Given the description of an element on the screen output the (x, y) to click on. 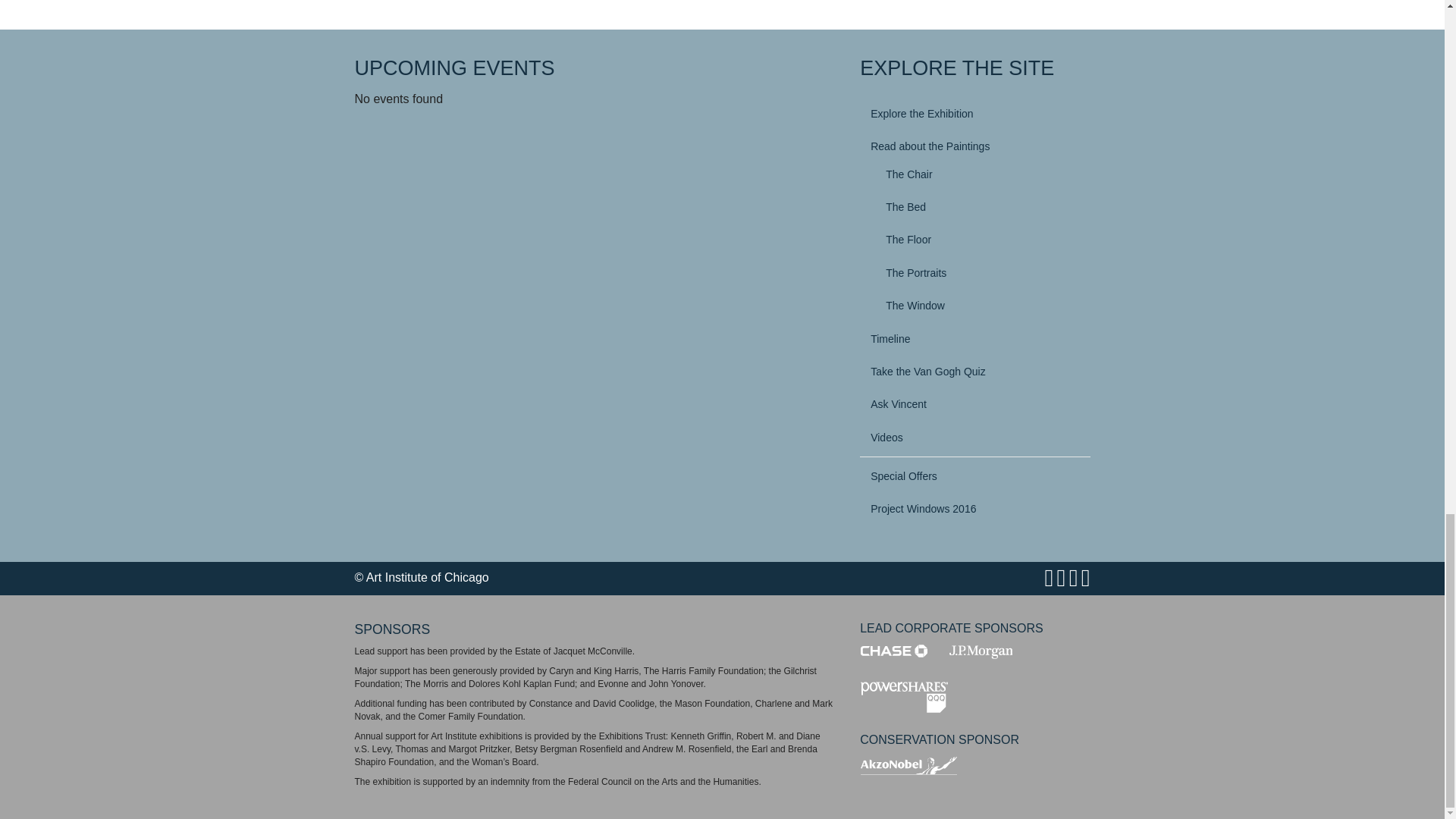
Explore the Exhibition (974, 113)
Read about the Paintings (974, 145)
The Window (982, 305)
The Floor (982, 239)
Timeline (974, 338)
The Portraits (982, 272)
Project Windows 2016 (974, 508)
Special Offers (974, 475)
The Bed (982, 206)
Ask Vincent (974, 403)
